Given the description of an element on the screen output the (x, y) to click on. 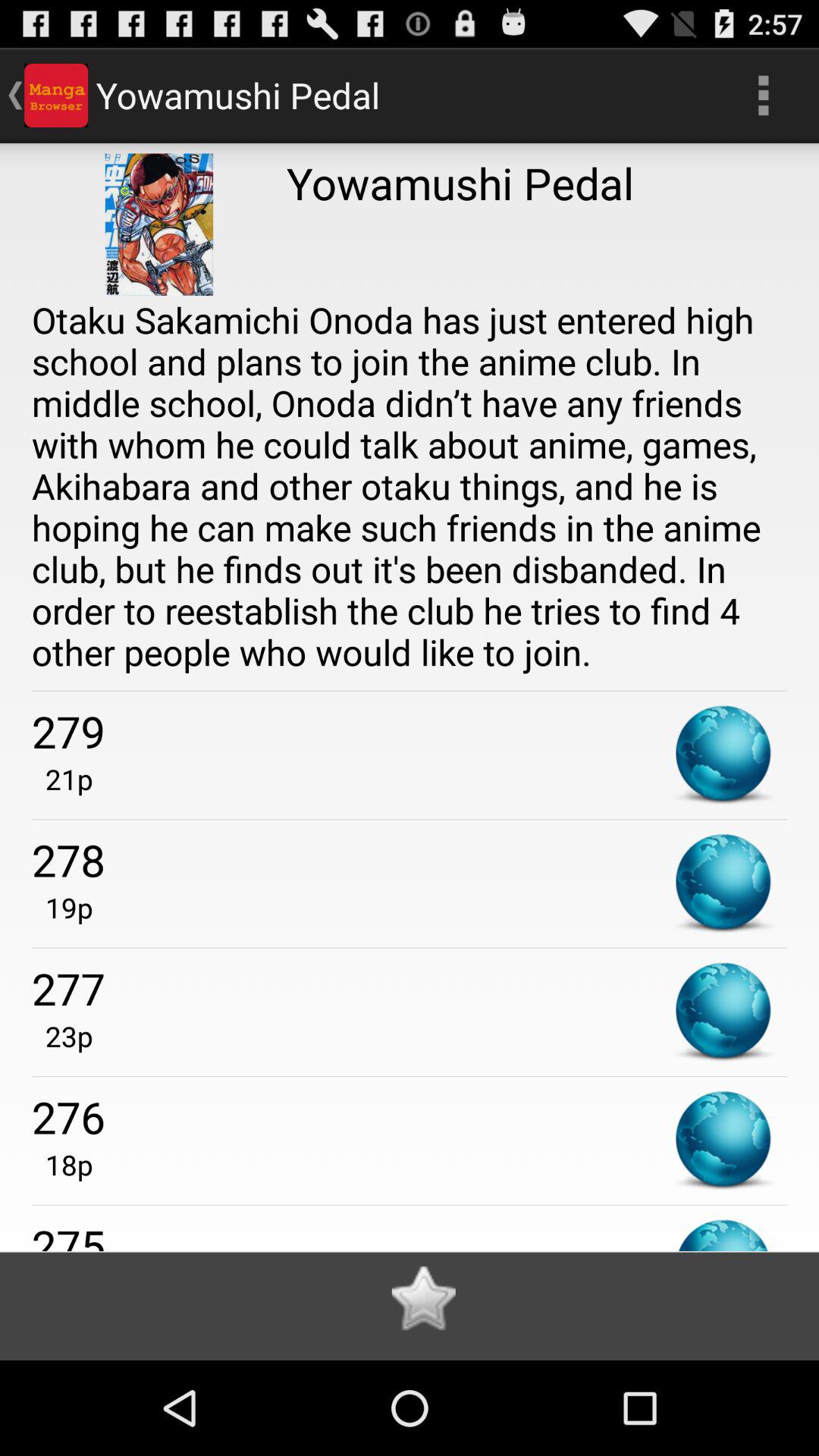
jump until the 278 (409, 859)
